Given the description of an element on the screen output the (x, y) to click on. 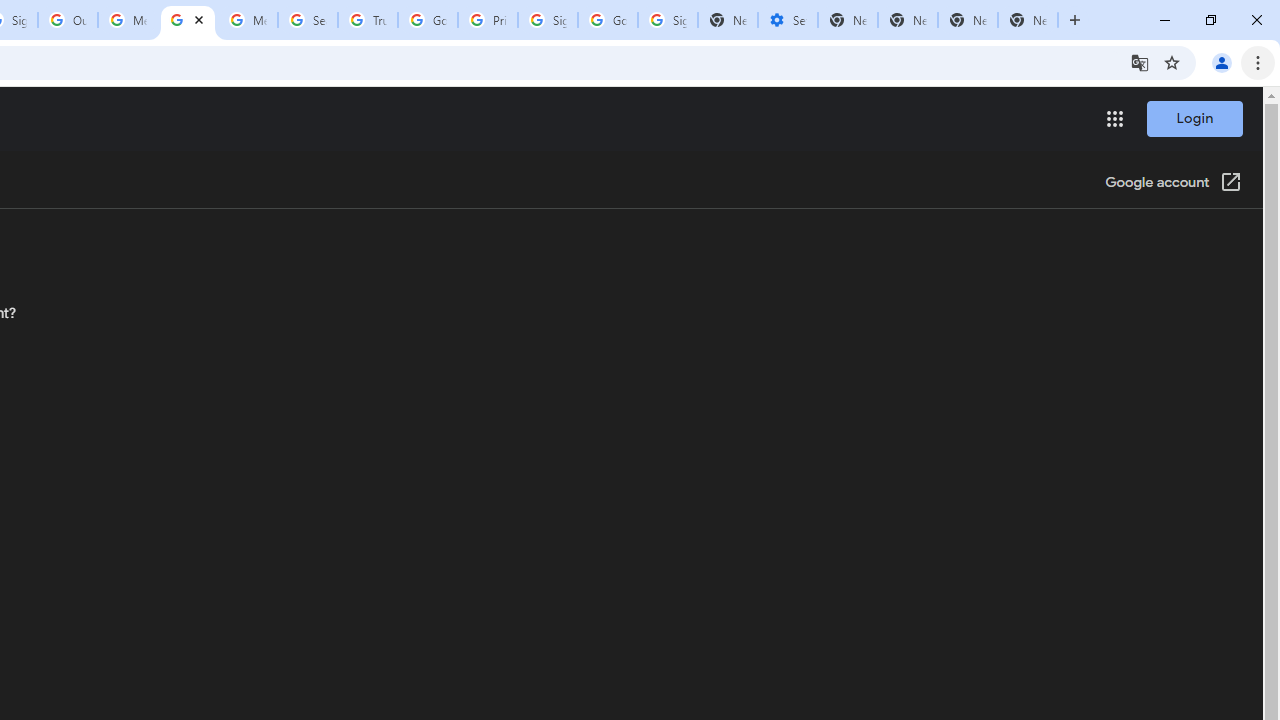
Sign in - Google Accounts (548, 20)
Google Account (Opens in new window) (1173, 183)
Trusted Information and Content - Google Safety Center (367, 20)
Search our Doodle Library Collection - Google Doodles (307, 20)
New Tab (1028, 20)
Settings - Performance (787, 20)
Google Cybersecurity Innovations - Google Safety Center (607, 20)
Login (1194, 118)
Google Ads - Sign in (428, 20)
